Given the description of an element on the screen output the (x, y) to click on. 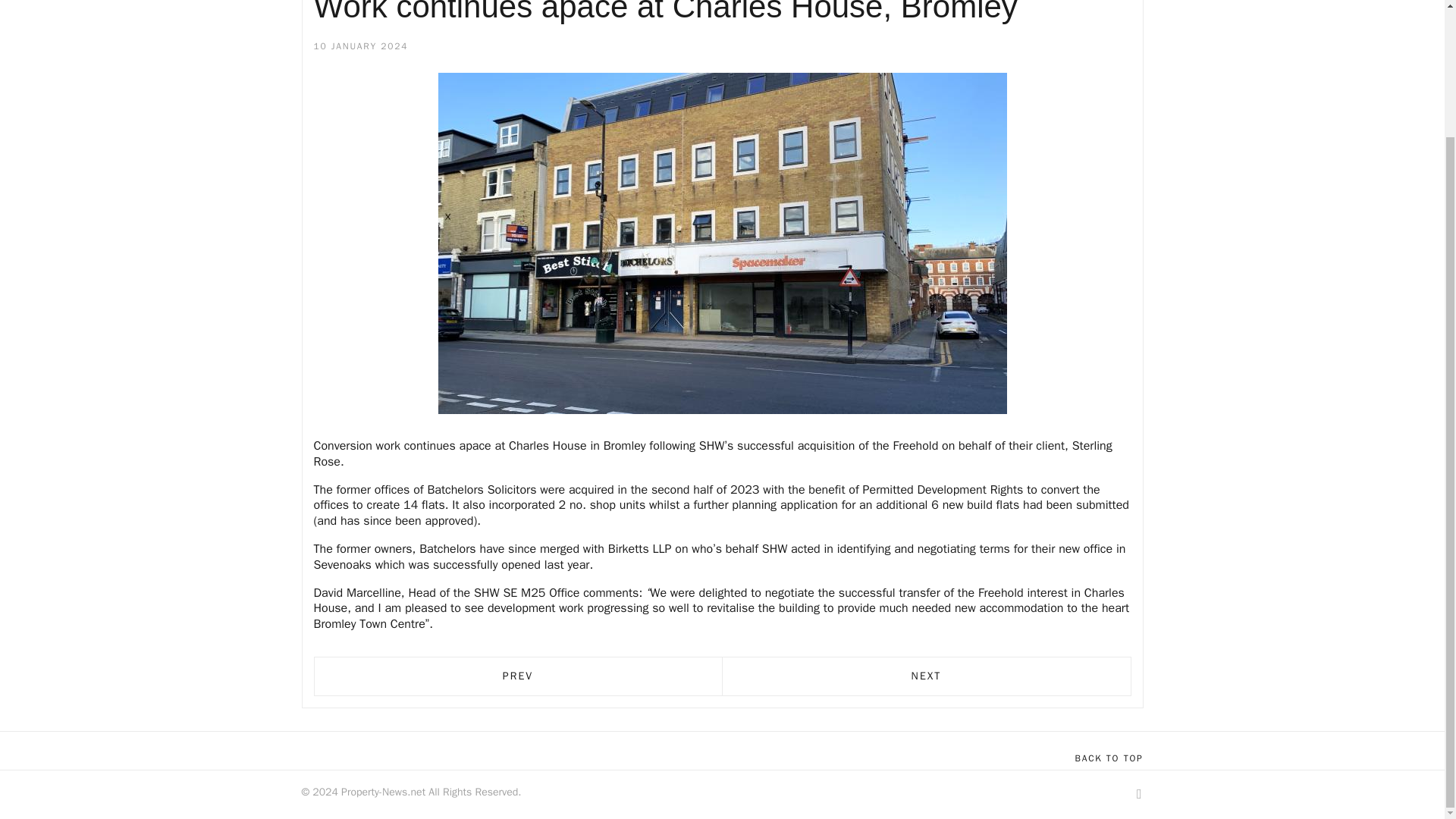
NEXT (926, 676)
BACK TO TOP (1108, 757)
BACK TO TOP (1108, 757)
PREV (517, 676)
Published: 10 January 2024 (361, 46)
